Given the description of an element on the screen output the (x, y) to click on. 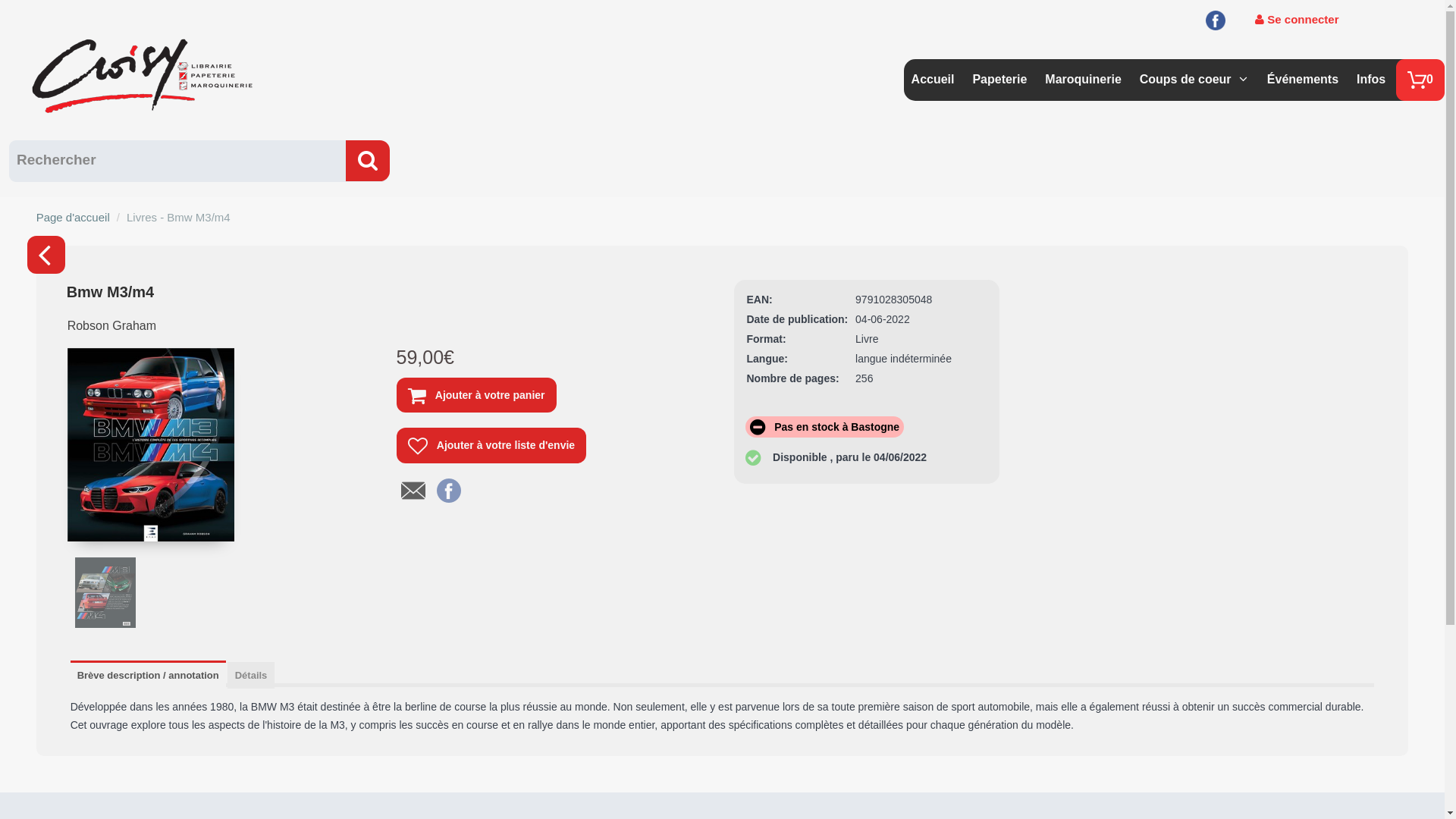
Share on facebook Element type: hover (448, 489)
Page d'accueil Element type: text (72, 216)
Papeterie Element type: text (999, 73)
Infos Element type: text (1370, 73)
Se connecter Element type: text (1296, 19)
Robson Graham Element type: text (111, 325)
Maroquinerie Element type: text (1082, 73)
Share via mail Element type: hover (413, 489)
Robson Graham Element type: text (111, 332)
Accueil Element type: text (932, 73)
0 Element type: text (1420, 79)
Coups de coeur  Element type: text (1186, 73)
